Given the description of an element on the screen output the (x, y) to click on. 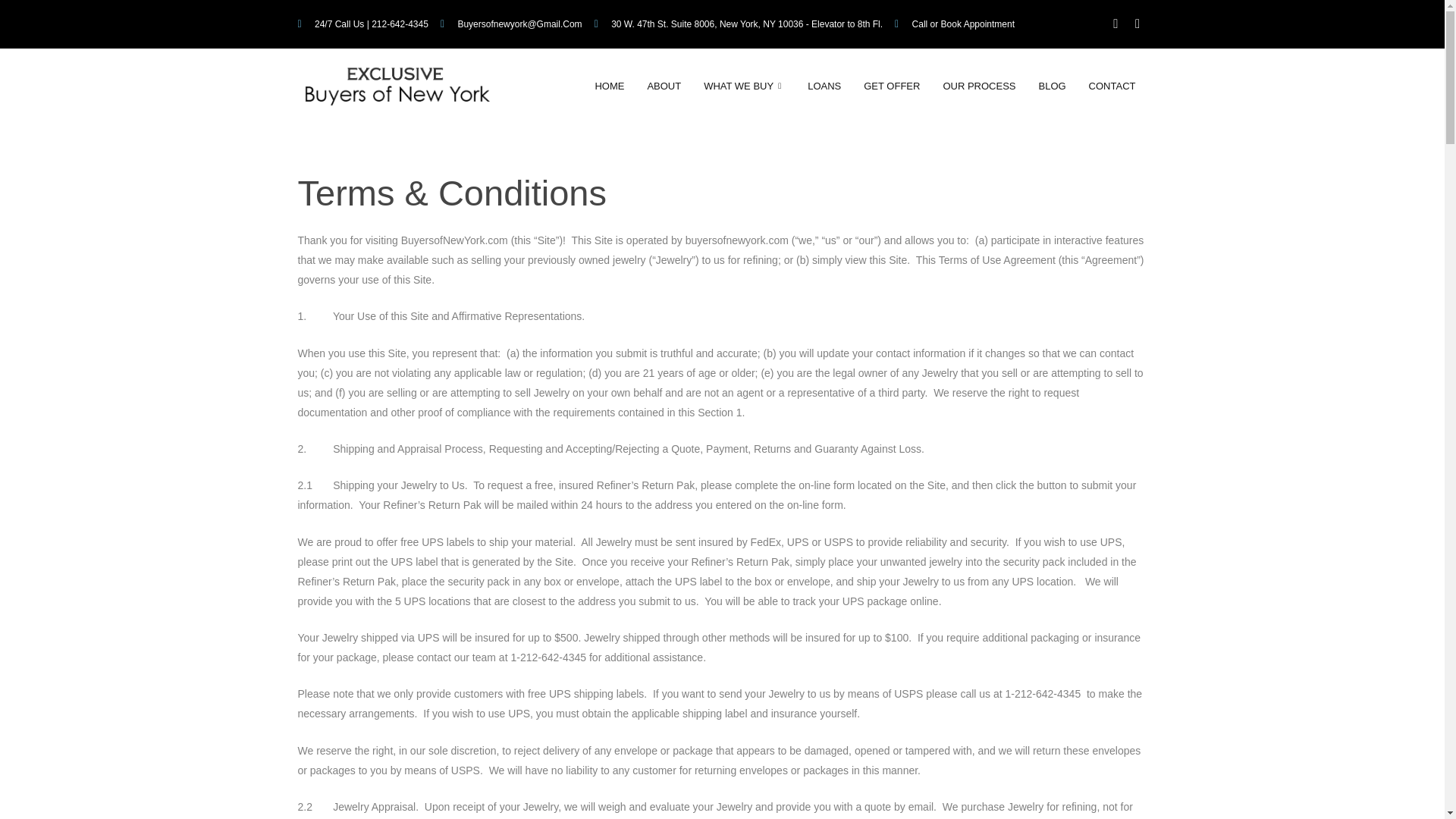
LOANS (823, 86)
OUR PROCESS (978, 86)
Call or Book Appointment (954, 23)
WHAT WE BUY (744, 86)
CONTACT (1112, 86)
GET OFFER (891, 86)
ABOUT (663, 86)
